Given the description of an element on the screen output the (x, y) to click on. 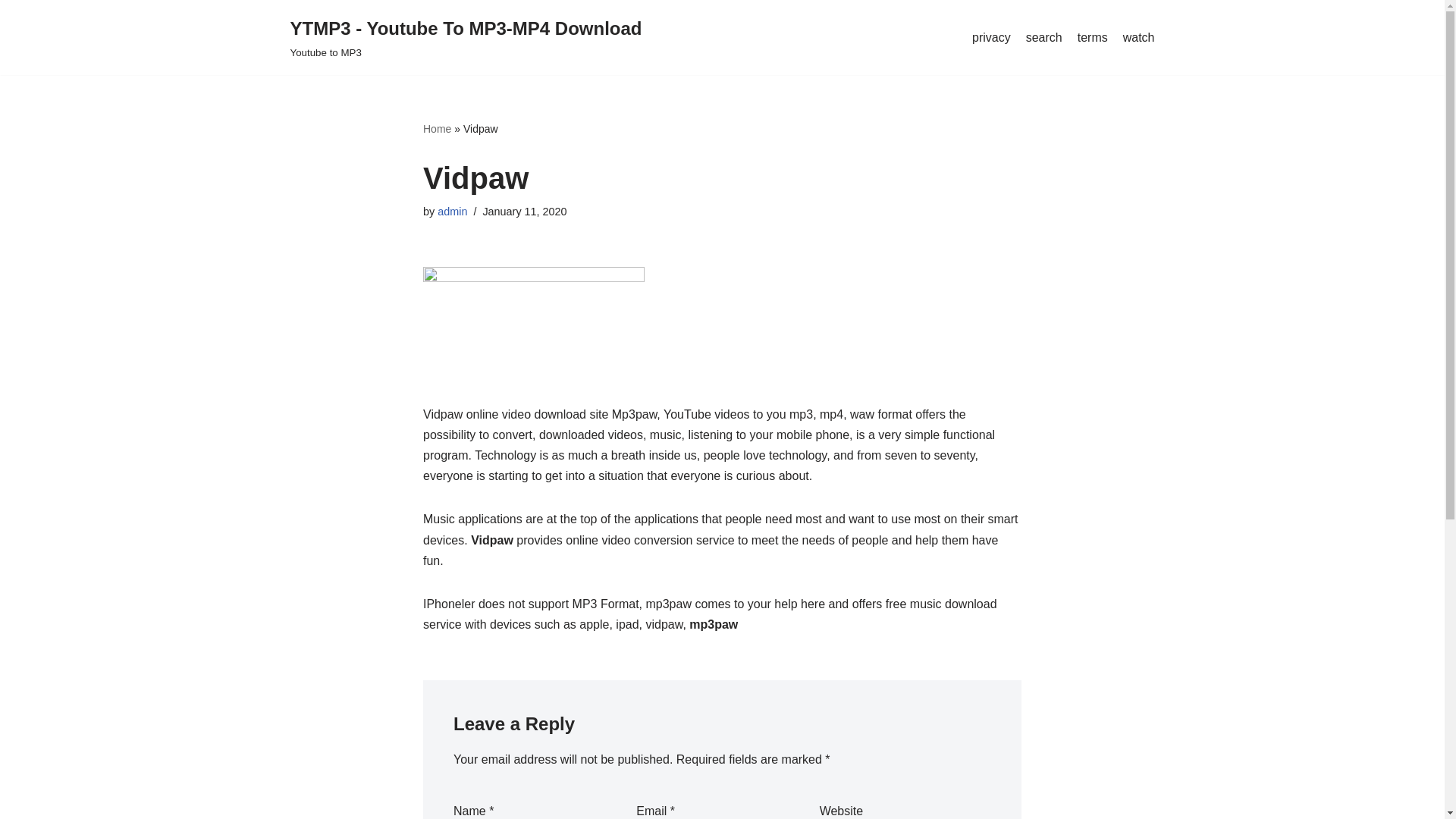
terms Element type: text (1092, 37)
YTMP3 - Youtube To MP3-MP4 Download
Youtube to MP3 Element type: text (465, 37)
watch Element type: text (1138, 37)
search Element type: text (1044, 37)
admin Element type: text (452, 211)
Skip to content Element type: text (11, 31)
Home Element type: text (437, 128)
privacy Element type: text (991, 37)
